Given the description of an element on the screen output the (x, y) to click on. 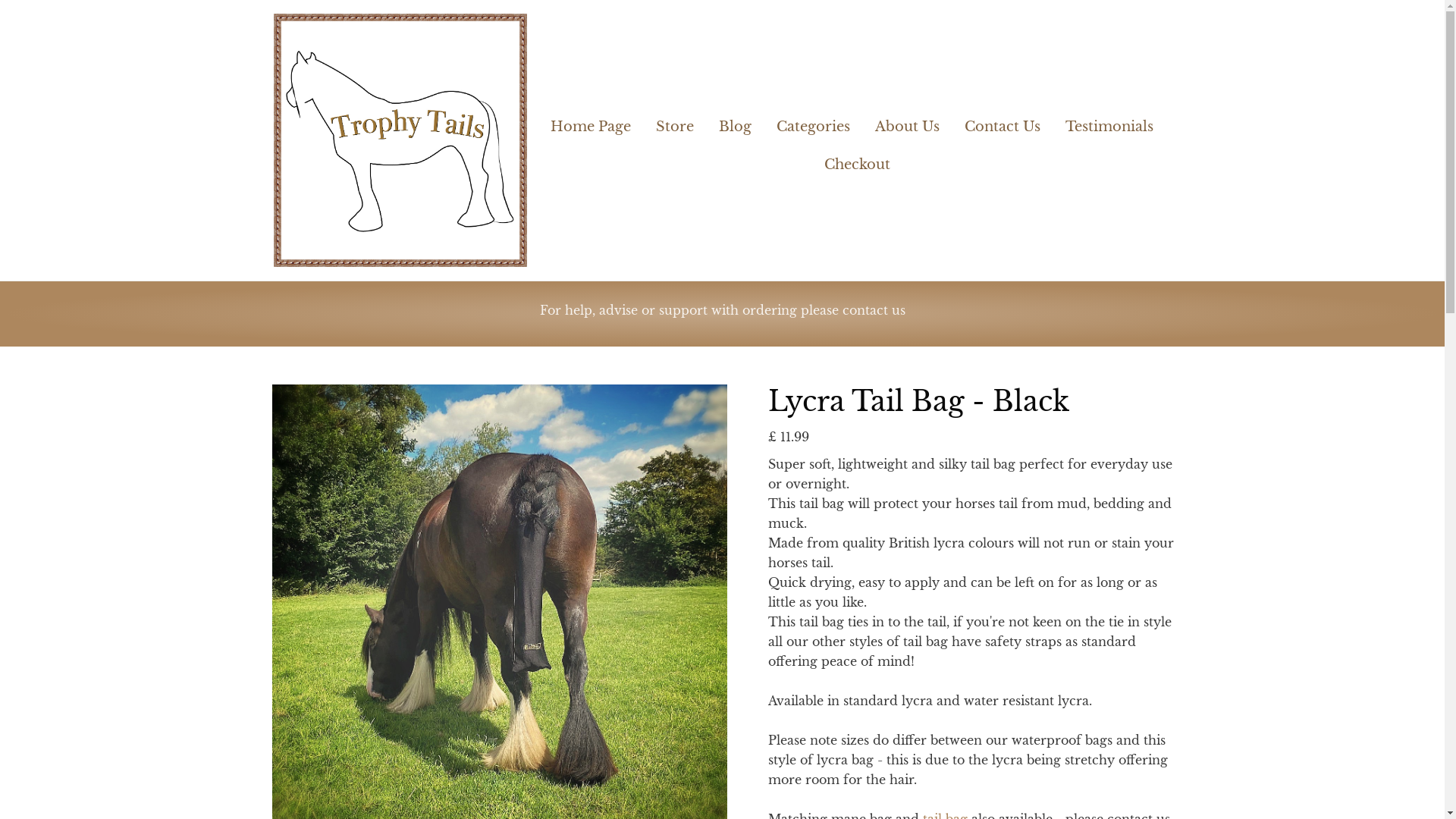
Categories (812, 121)
Blog (734, 121)
Testimonials (1108, 121)
tail bag (943, 815)
About Us (907, 121)
Store (674, 121)
Trophy Tails (399, 139)
Checkout (855, 159)
Home Page (596, 121)
Contact Us (1002, 121)
